Given the description of an element on the screen output the (x, y) to click on. 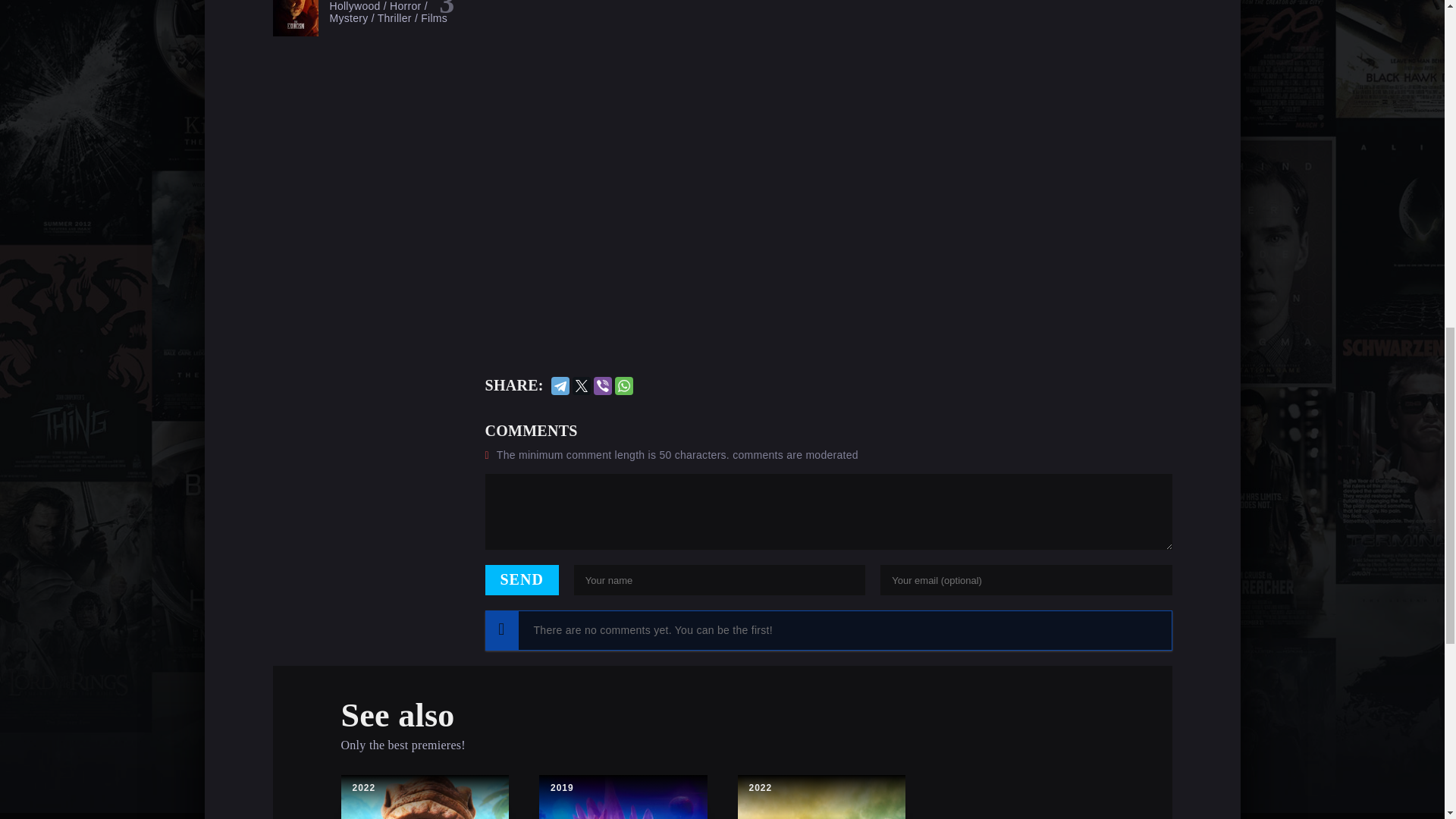
Viber (602, 385)
Twitter (581, 385)
2022 (363, 787)
Vesper poster - indiq.net (820, 796)
The Exorcism poster - indiq.net (295, 18)
Astro Kid poster - indiq.net (622, 796)
The Ice Age Adventures of Buck Wild poster - indiq.net (424, 796)
Telegram (560, 385)
WhatsApp (623, 385)
SEND (521, 580)
